Given the description of an element on the screen output the (x, y) to click on. 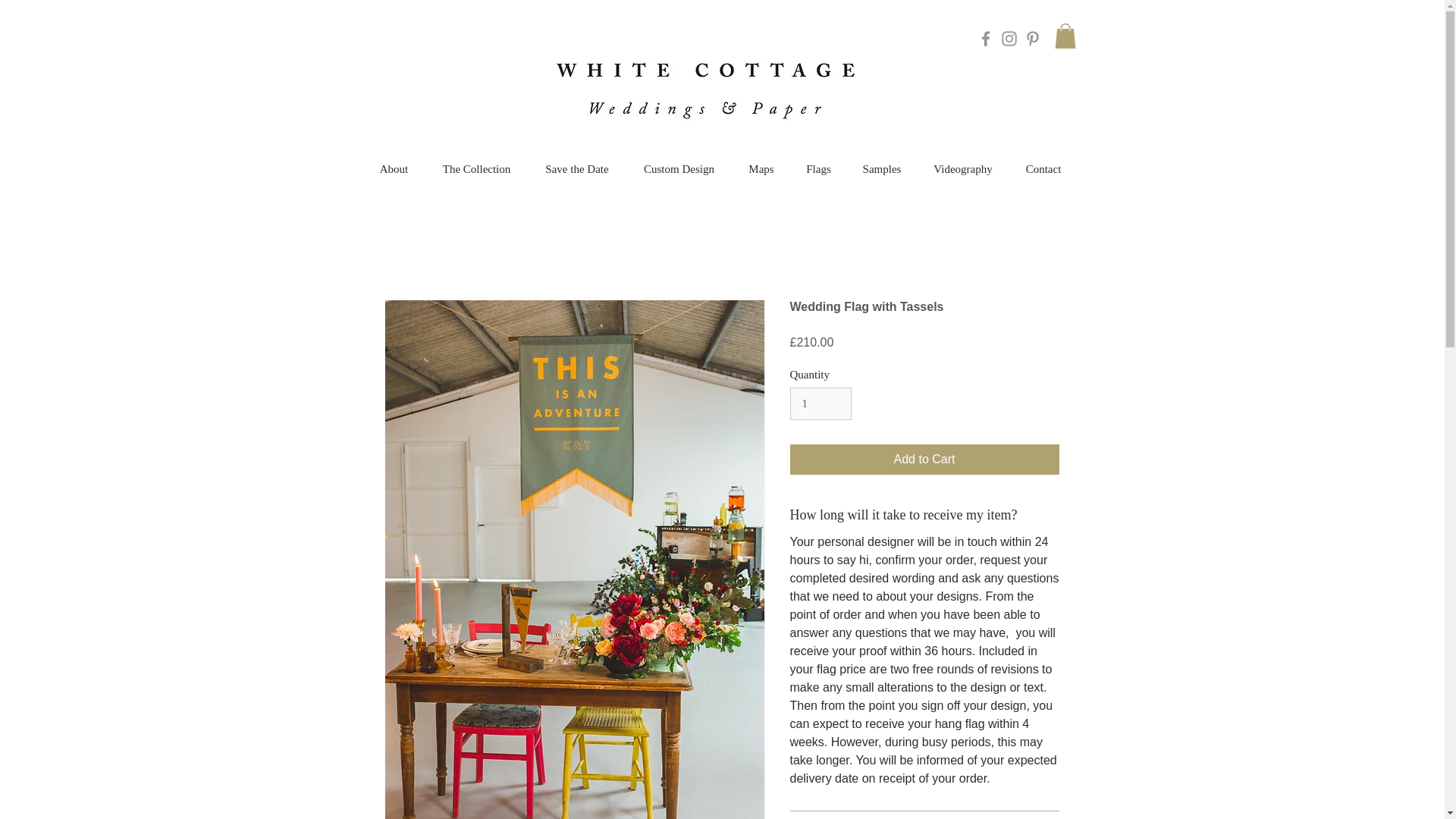
Contact (1043, 169)
The Collection (476, 169)
Custom Design (678, 169)
1 (820, 403)
Save the Date (576, 169)
Add to Cart (924, 459)
Flags (818, 169)
Samples (882, 169)
About (393, 169)
Videography (962, 169)
Maps (760, 169)
